Given the description of an element on the screen output the (x, y) to click on. 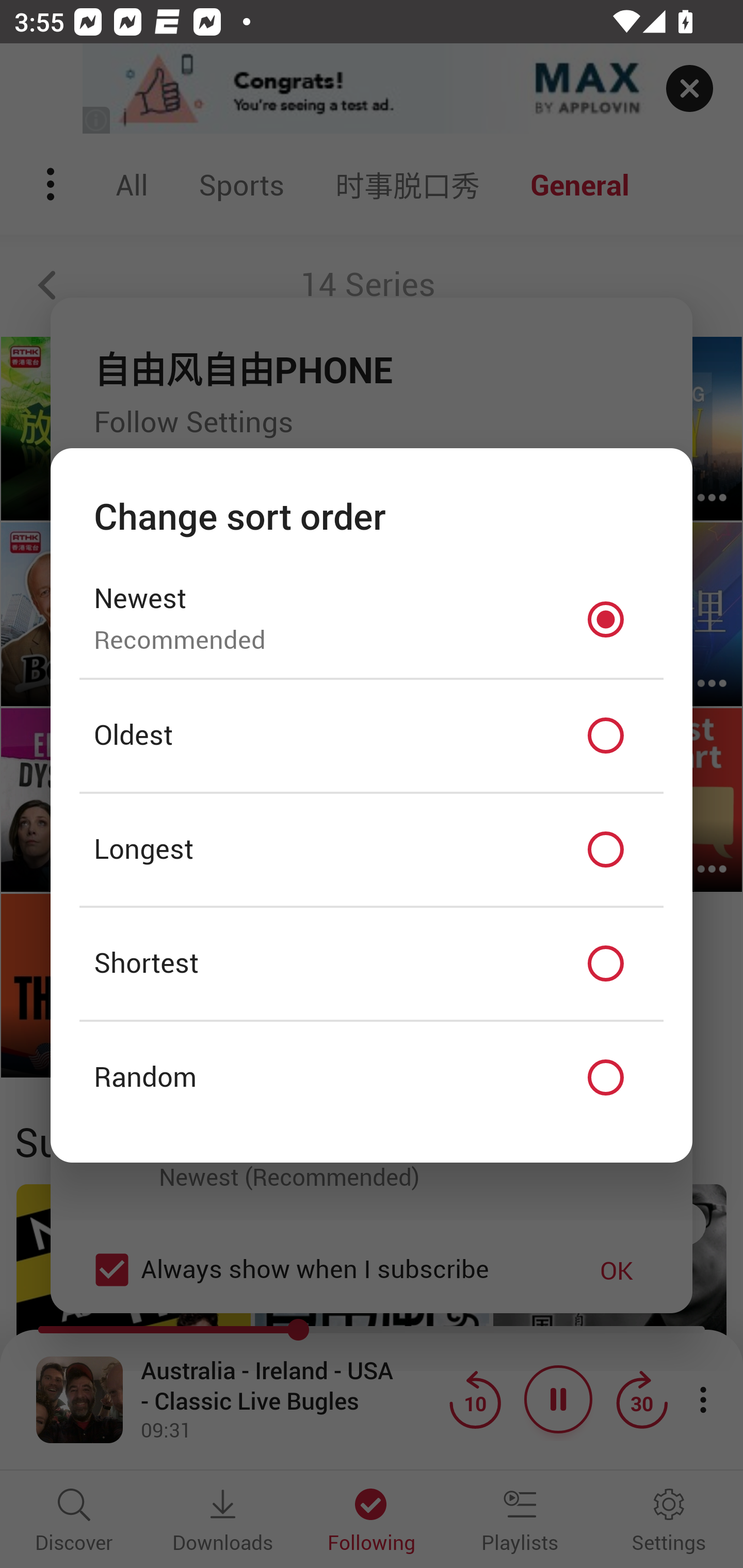
Newest Recommended (371, 619)
Oldest (371, 735)
Longest (371, 849)
Shortest (371, 963)
Random (371, 1077)
